Given the description of an element on the screen output the (x, y) to click on. 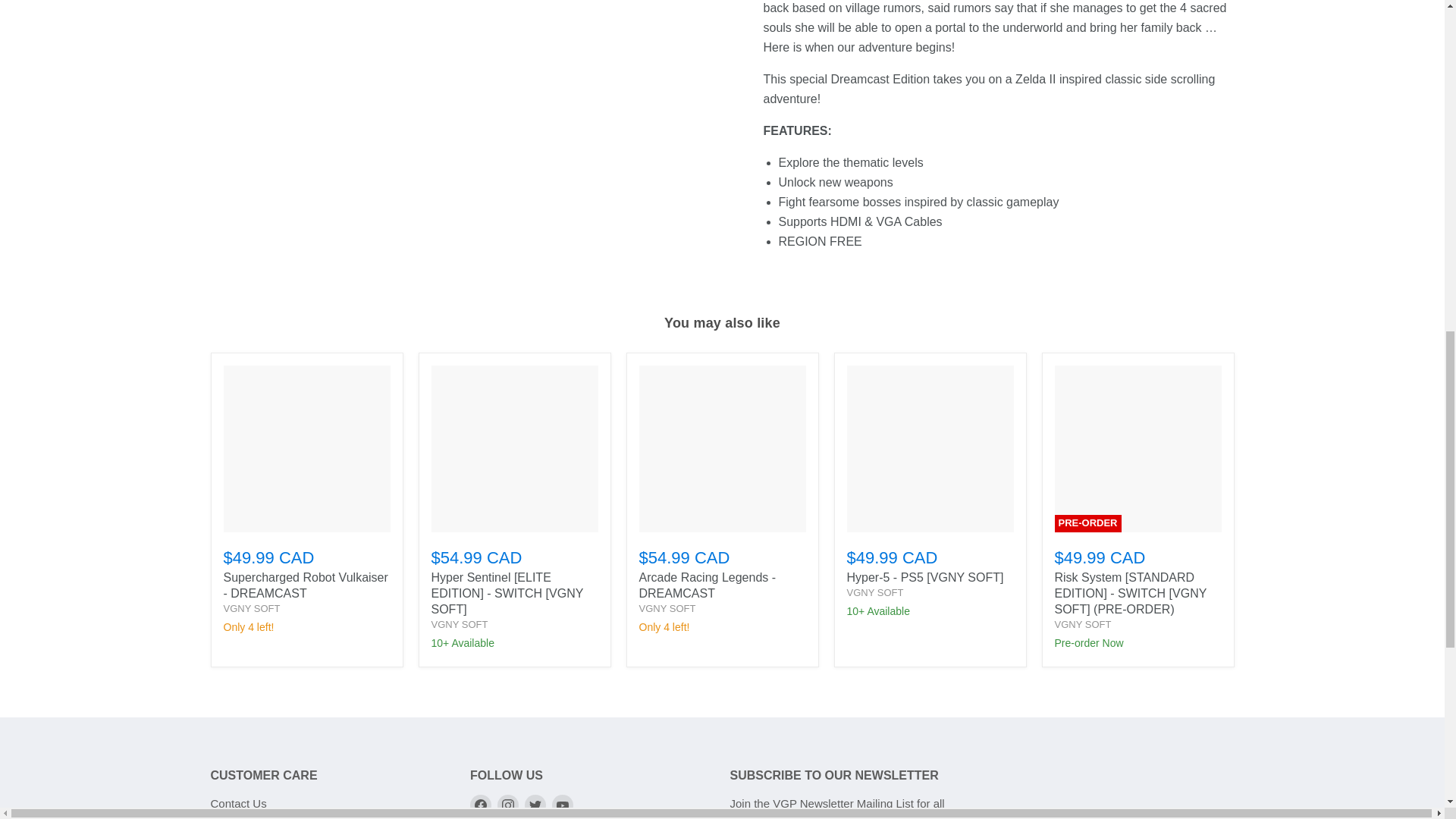
VGNY SOFT (667, 608)
VGNY SOFT (458, 624)
VGNY SOFT (250, 608)
Instagram (507, 804)
VGNY SOFT (873, 592)
YouTube (562, 804)
VGNY SOFT (1082, 624)
Twitter (535, 804)
Facebook (481, 804)
